Given the description of an element on the screen output the (x, y) to click on. 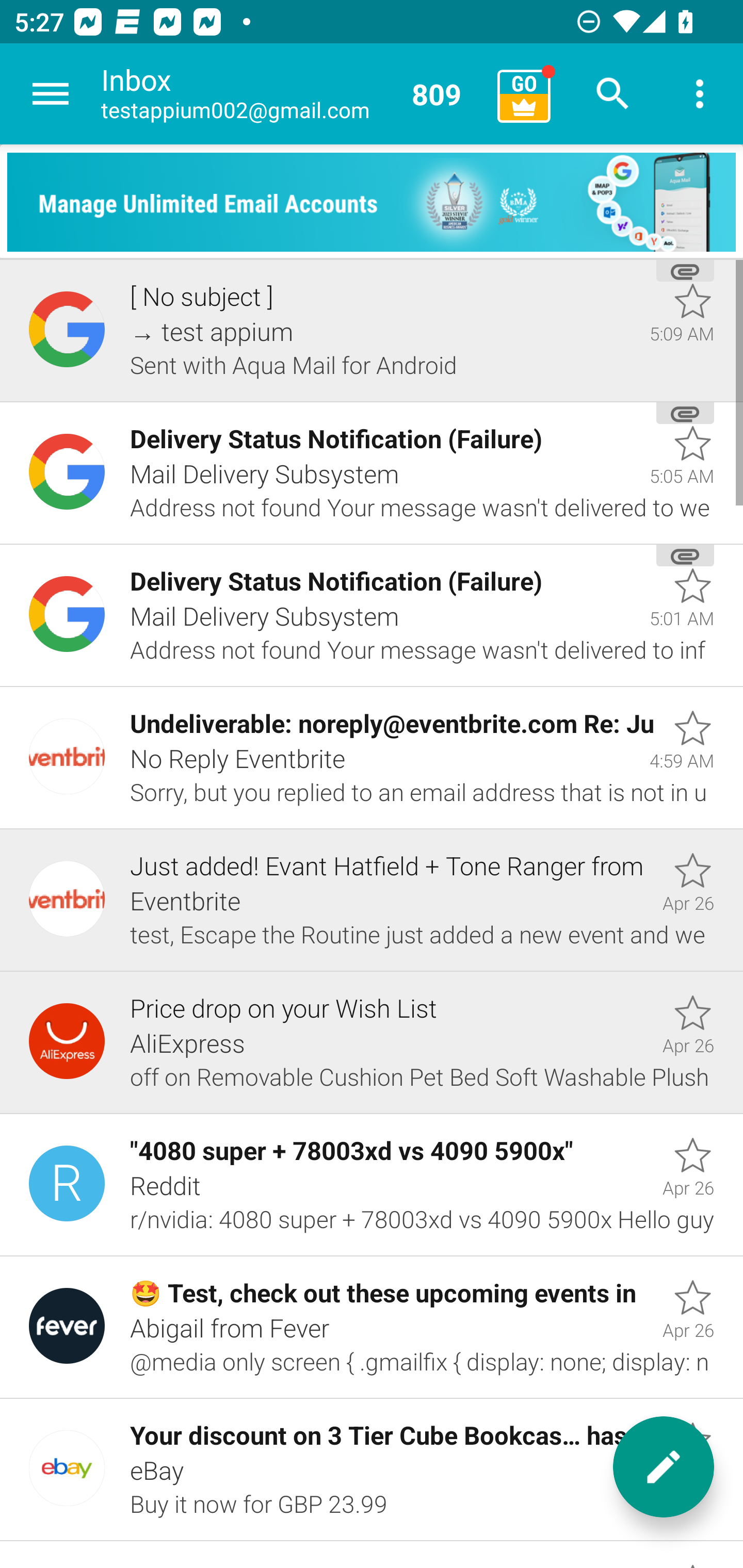
Navigate up (50, 93)
Inbox testappium002@gmail.com 809 (291, 93)
Search (612, 93)
More options (699, 93)
New message (663, 1466)
